Given the description of an element on the screen output the (x, y) to click on. 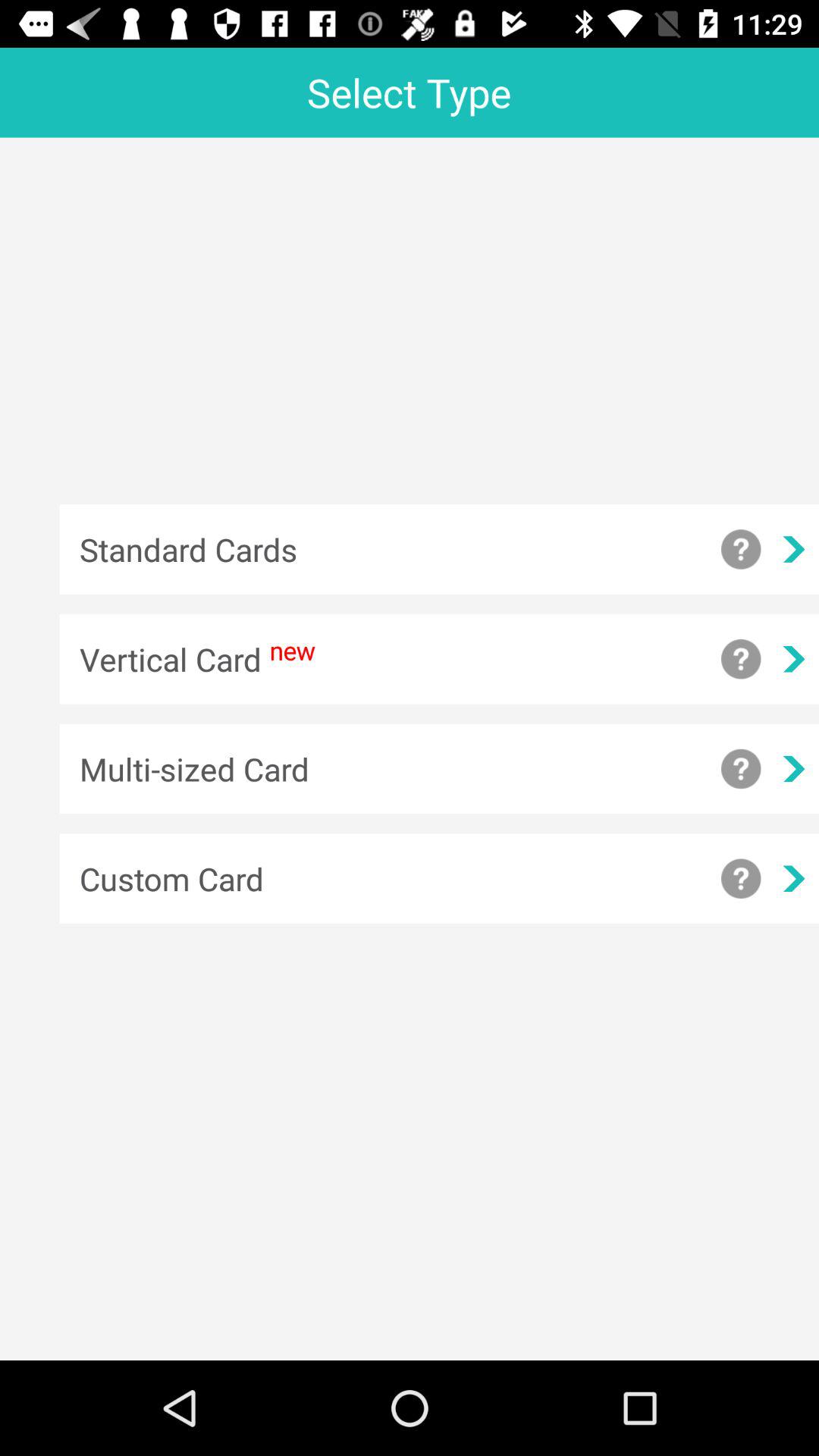
show information (740, 768)
